Given the description of an element on the screen output the (x, y) to click on. 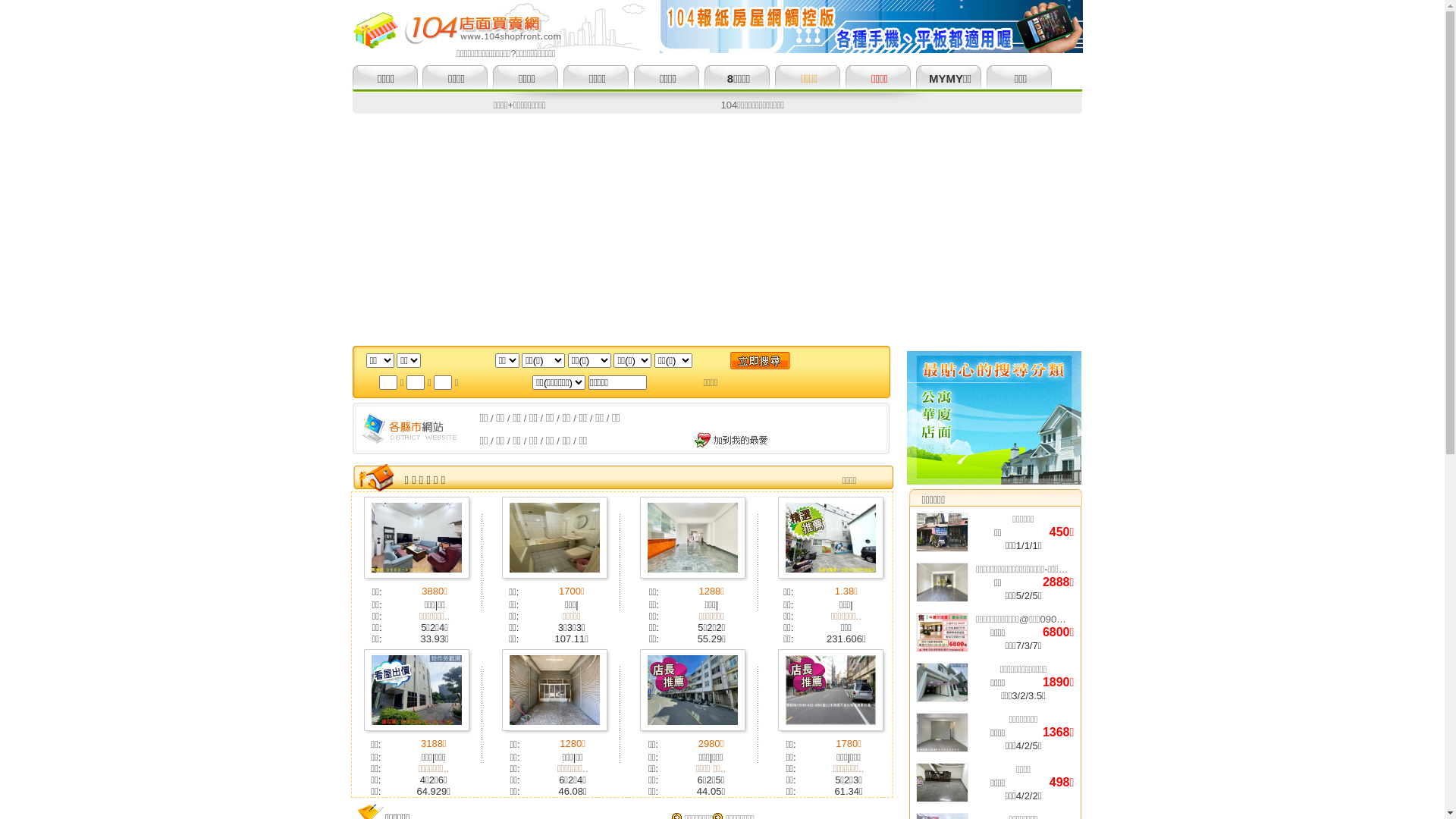
Advertisement Element type: hover (721, 227)
